Given the description of an element on the screen output the (x, y) to click on. 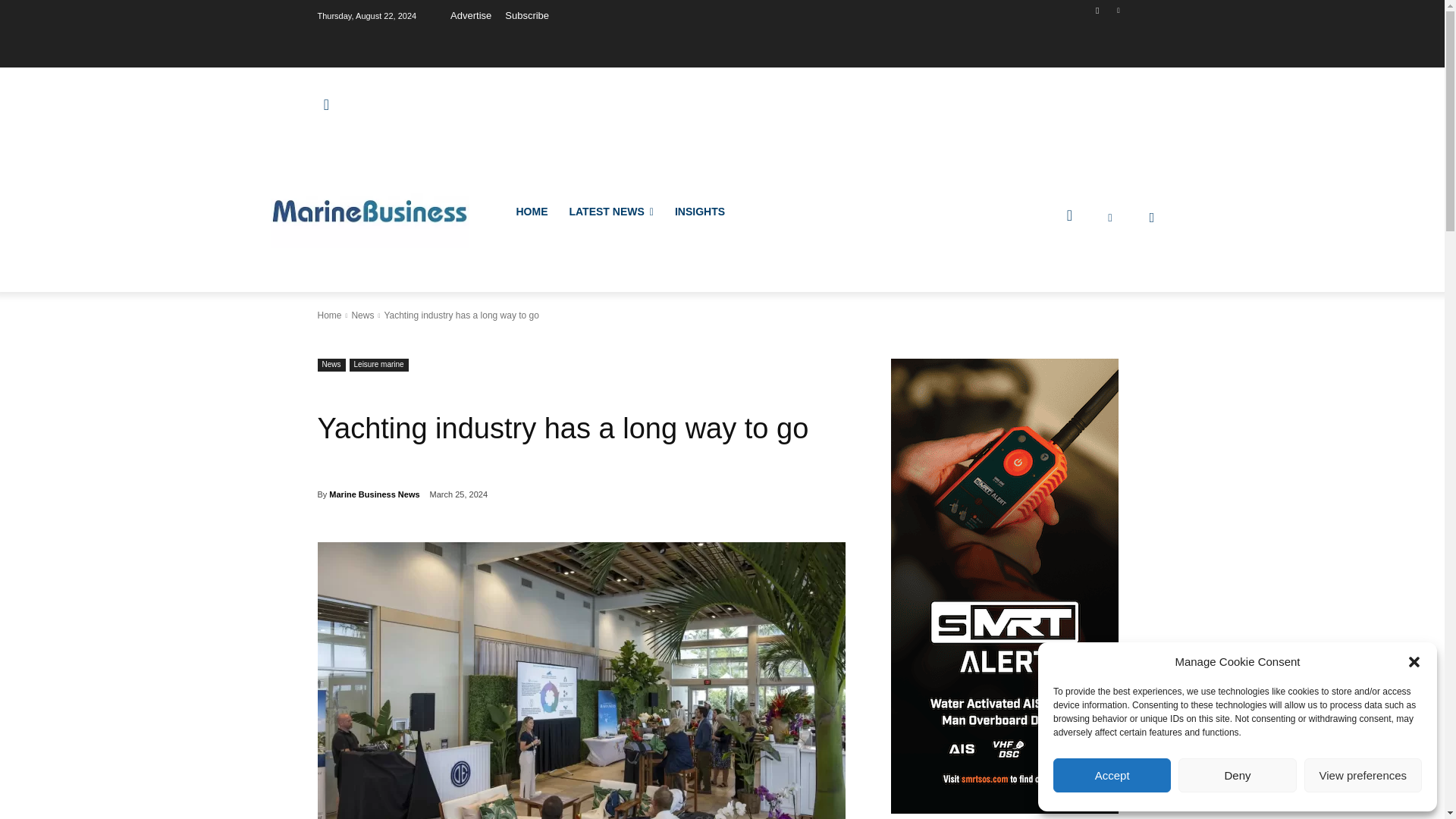
Linkedin (1109, 217)
Advertise (470, 15)
LATEST NEWS (610, 211)
View all posts in News (362, 315)
INSIGHTS (699, 211)
Facebook (1151, 217)
Facebook (1097, 9)
Accept (1111, 775)
Subscribe (526, 15)
Linkedin (1117, 9)
